Given the description of an element on the screen output the (x, y) to click on. 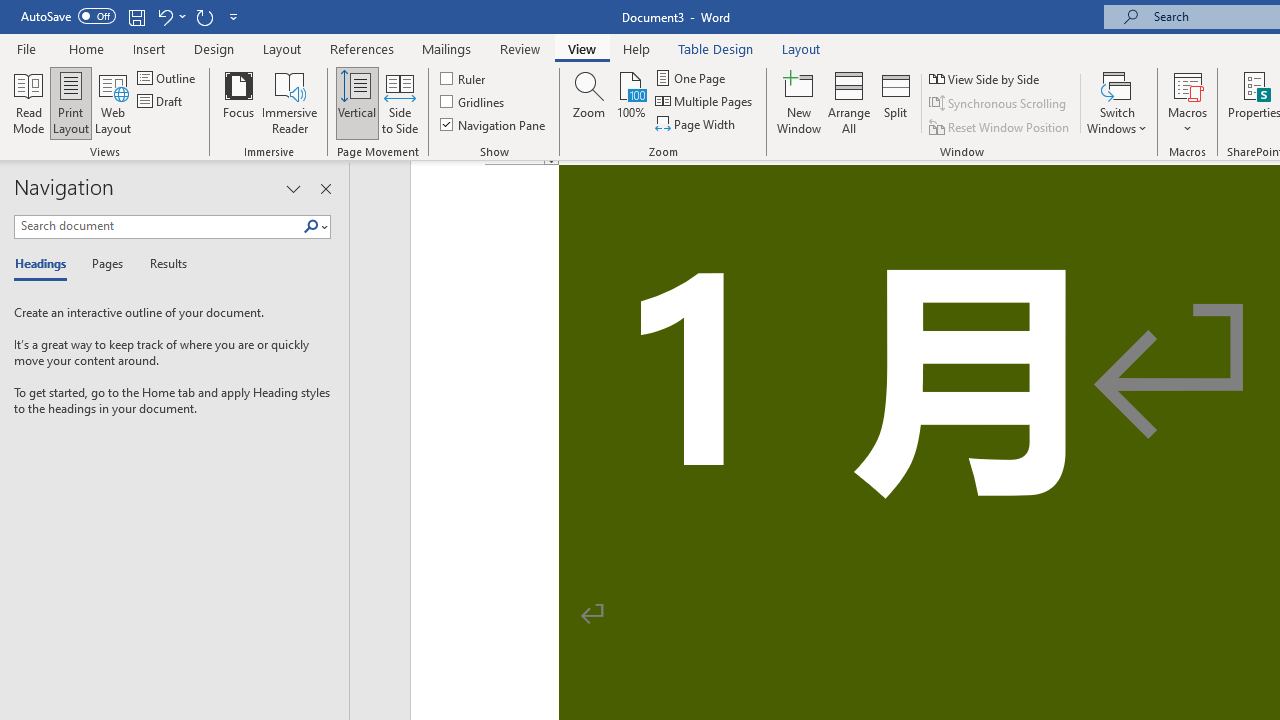
Multiple Pages (705, 101)
Home (86, 48)
Draft (161, 101)
References (362, 48)
View Side by Side (985, 78)
Split (895, 102)
Print Layout (70, 102)
Synchronous Scrolling (998, 103)
Review (520, 48)
Repeat Doc Close (204, 15)
